Given the description of an element on the screen output the (x, y) to click on. 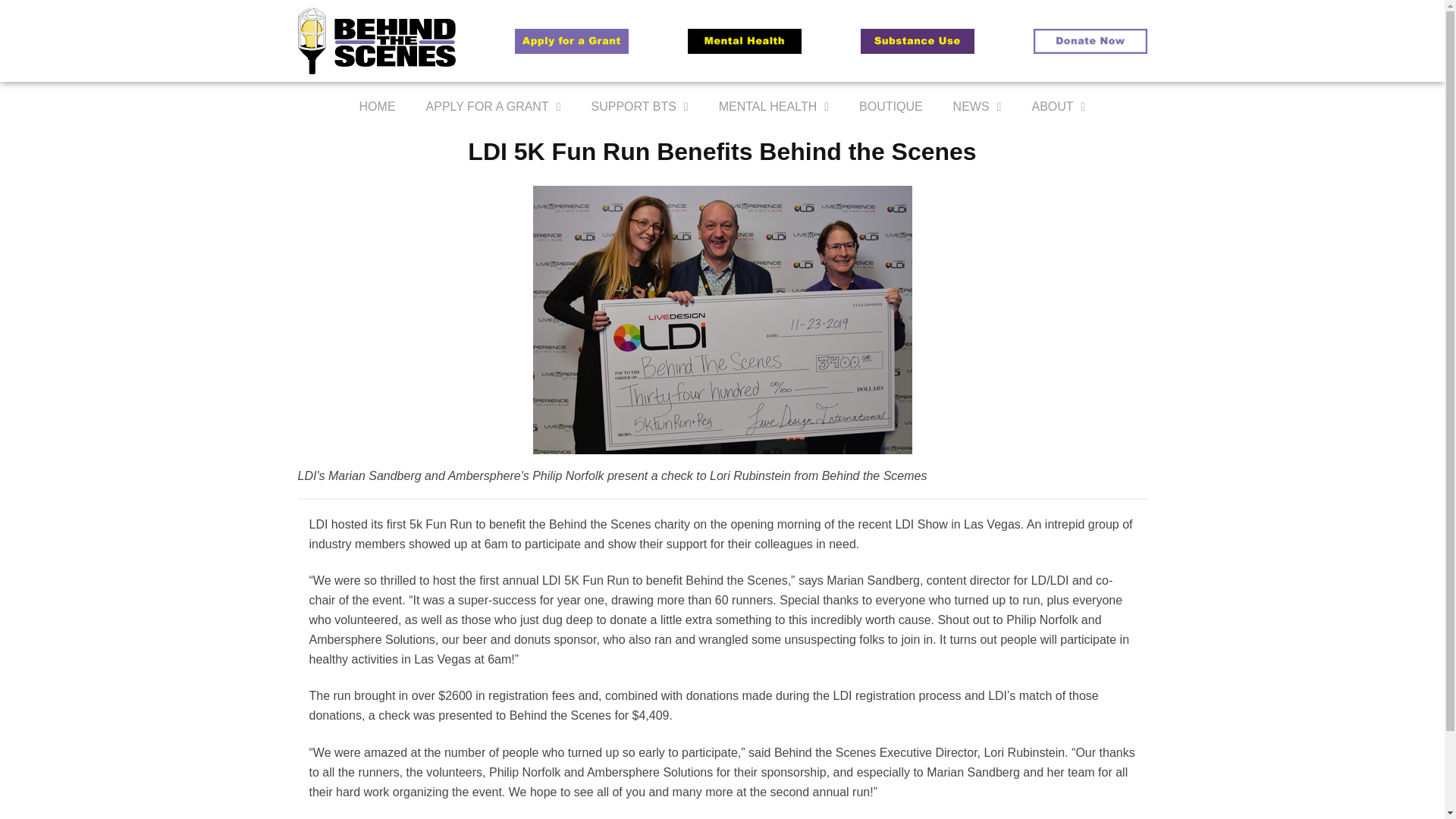
HOME (376, 106)
SUPPORT BTS (639, 106)
APPLY FOR A GRANT (493, 106)
MENTAL HEALTH (773, 106)
